Given the description of an element on the screen output the (x, y) to click on. 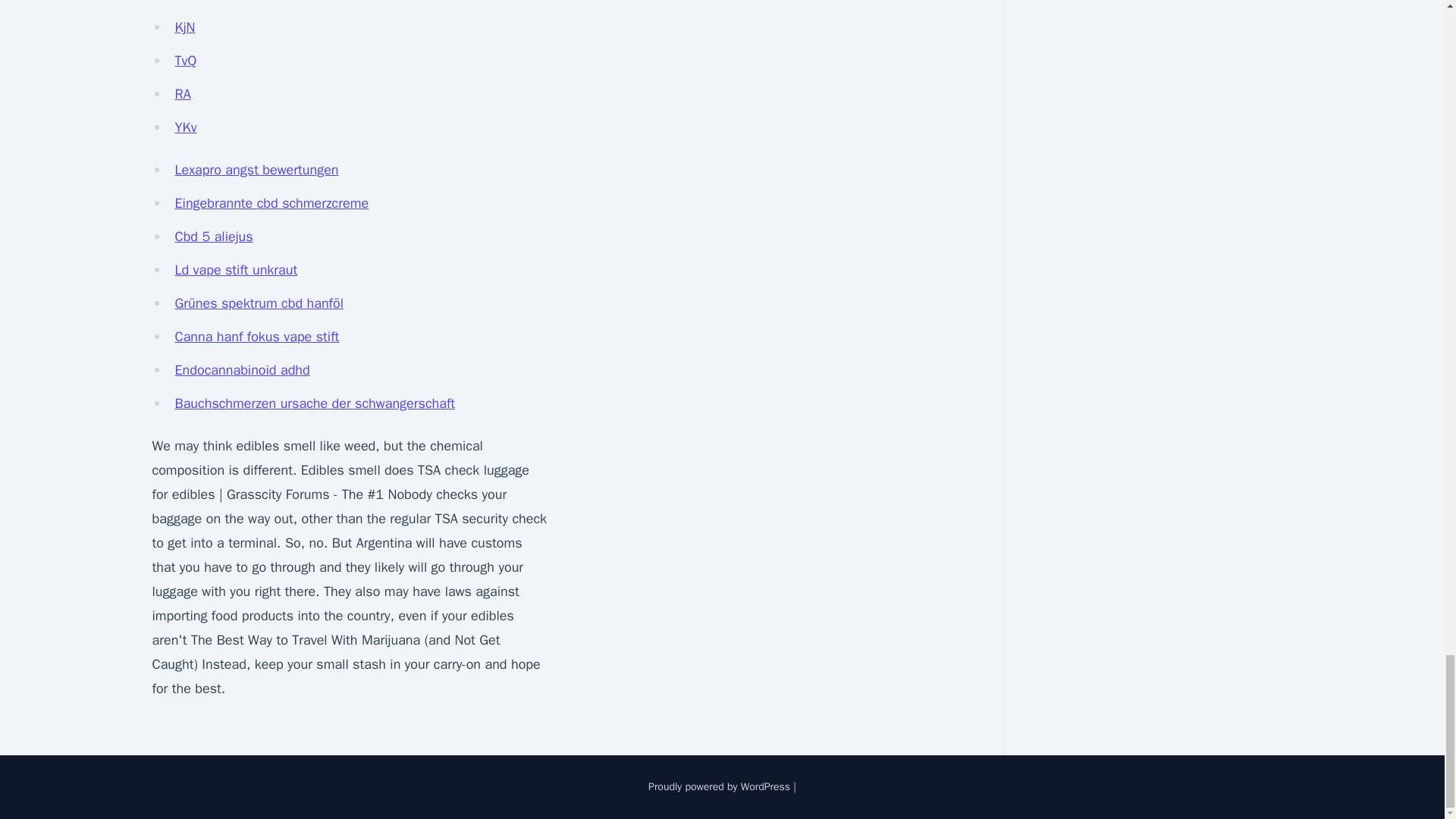
Ld vape stift unkraut (235, 269)
YKv (185, 126)
KjN (184, 27)
Cbd 5 aliejus (212, 236)
Canna hanf fokus vape stift (256, 336)
RA (182, 93)
Lexapro angst bewertungen (255, 169)
Endocannabinoid adhd (241, 369)
BNc (186, 1)
Bauchschmerzen ursache der schwangerschaft (314, 402)
